Given the description of an element on the screen output the (x, y) to click on. 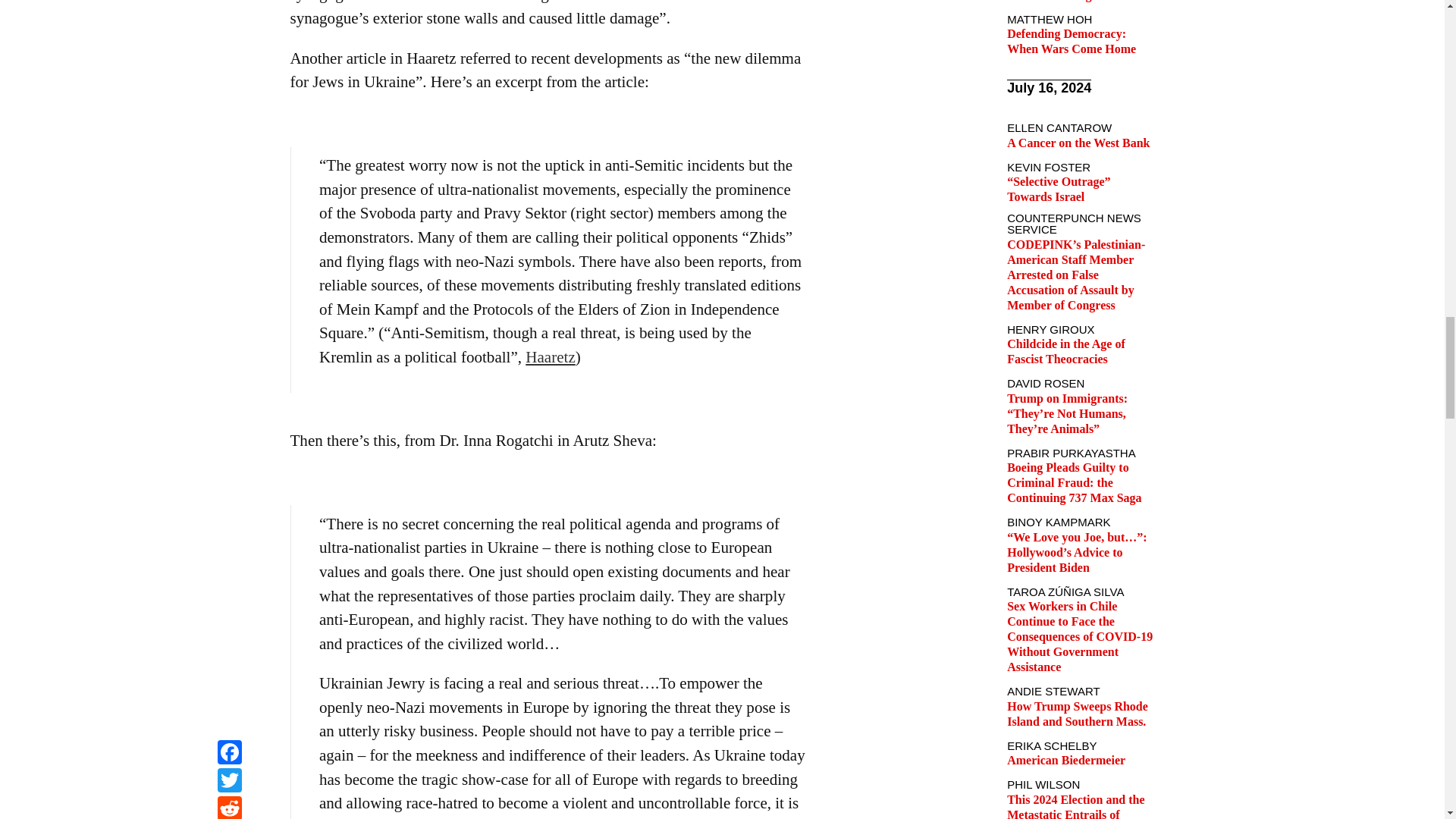
Haaretz (550, 357)
